Given the description of an element on the screen output the (x, y) to click on. 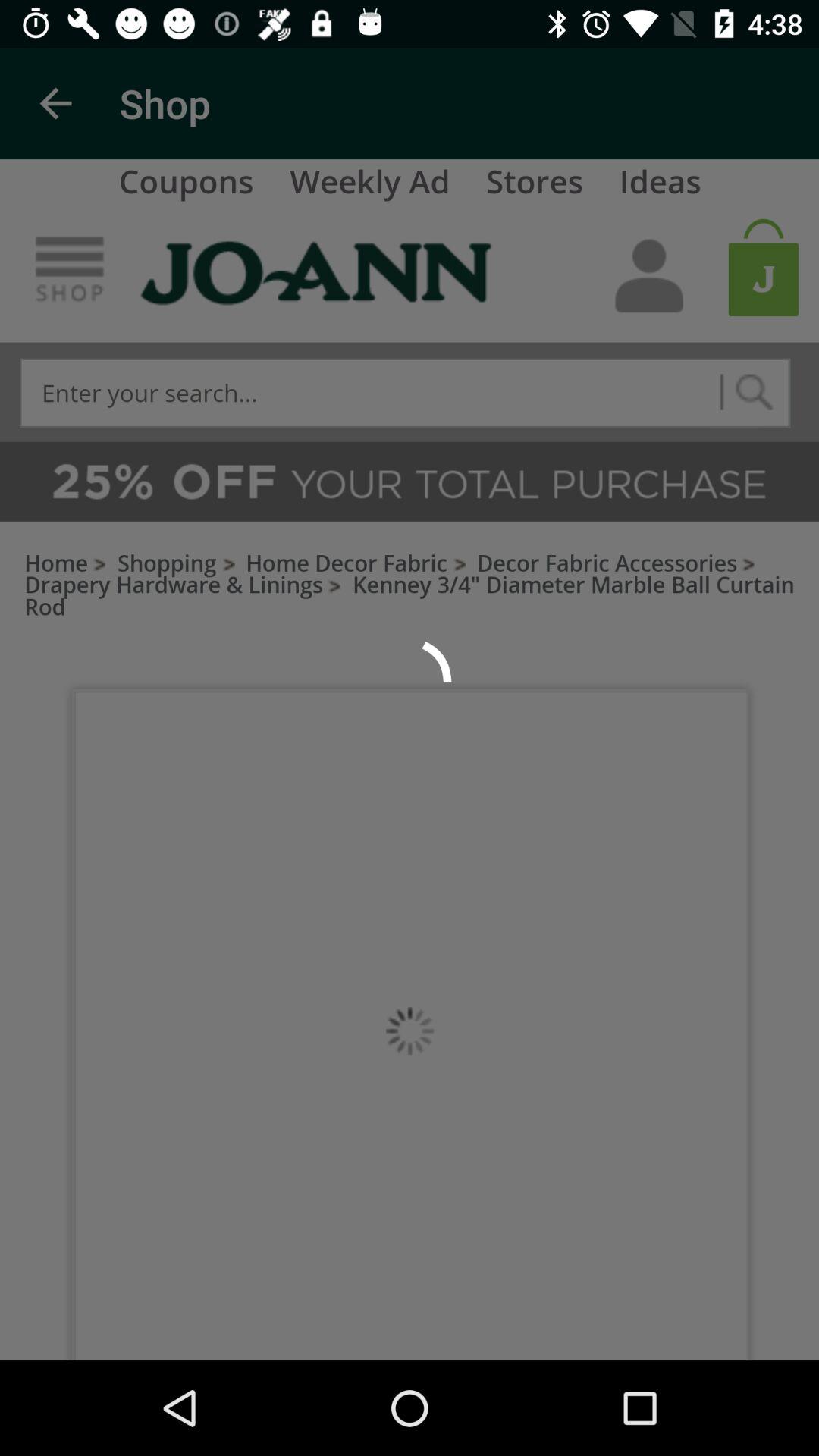
launch the item to the left of the shop item (55, 103)
